Given the description of an element on the screen output the (x, y) to click on. 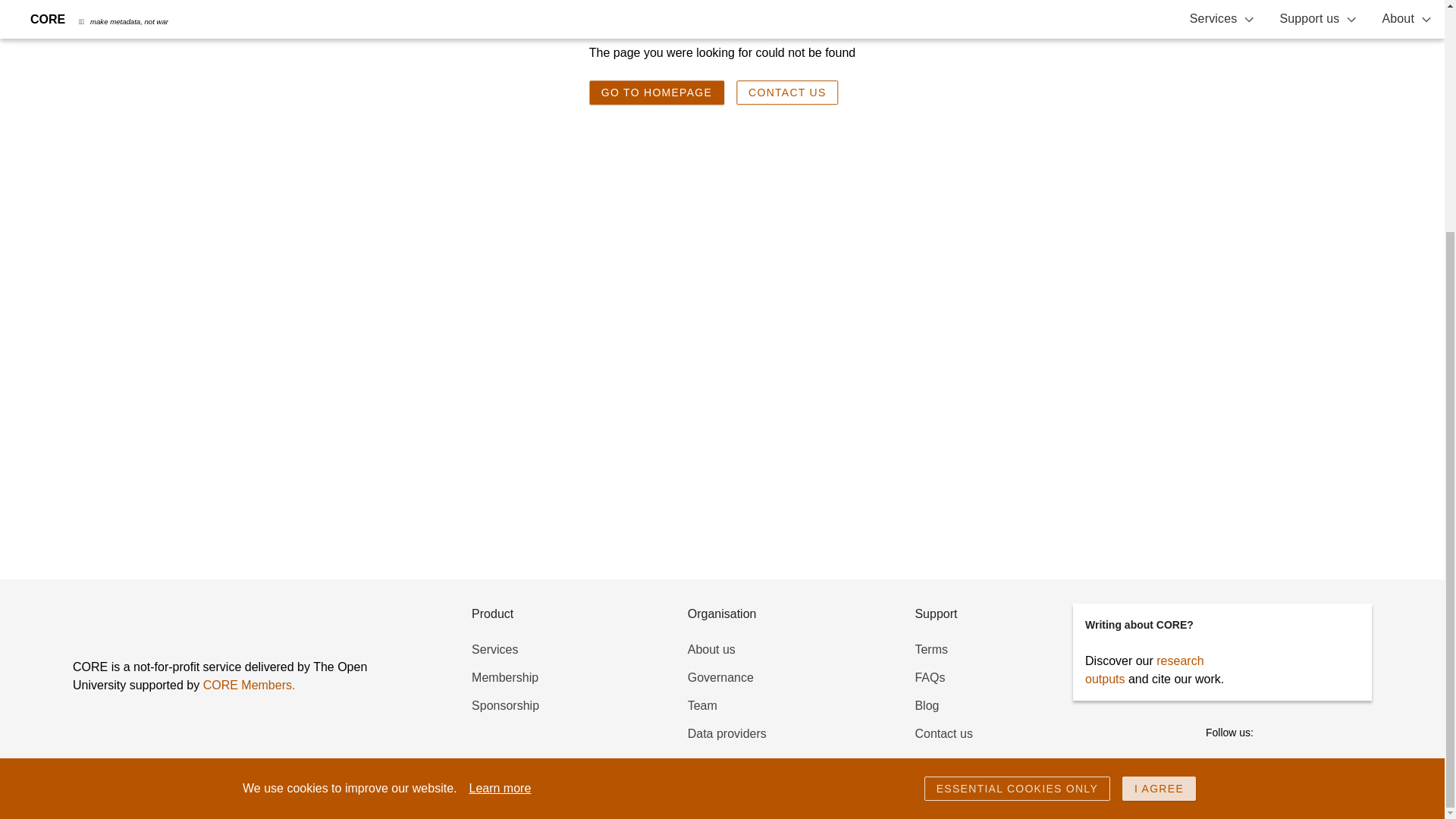
CONTACT US (787, 92)
Sponsorship (504, 705)
Data providers (727, 733)
Governance (720, 676)
Services (494, 649)
Terms (930, 649)
GO TO HOMEPAGE (656, 92)
About us (711, 649)
FAQs (929, 676)
Membership (504, 676)
CORE Members. (249, 684)
Team (702, 705)
